Given the description of an element on the screen output the (x, y) to click on. 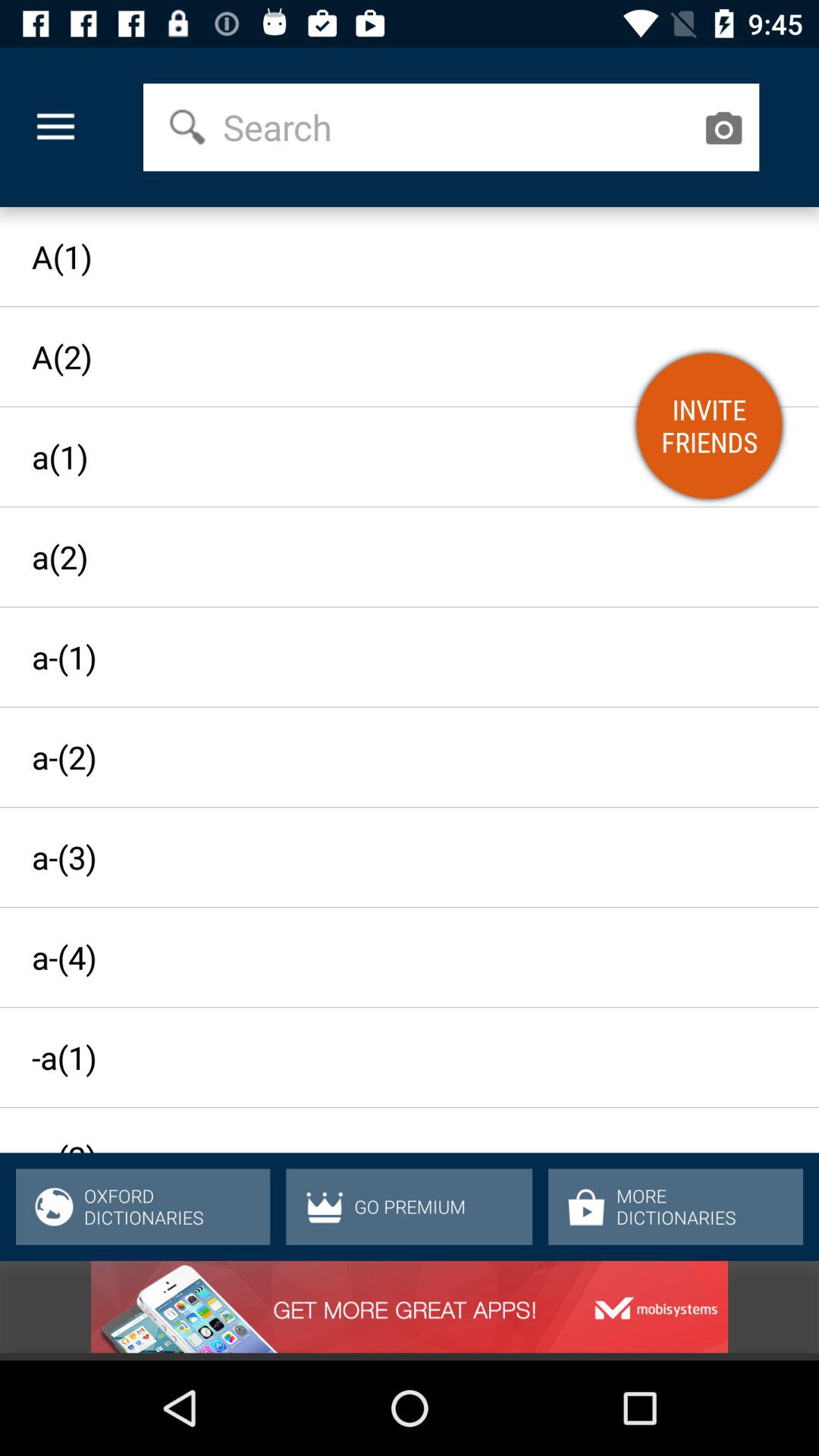
flip until the invite friends icon (708, 425)
